Given the description of an element on the screen output the (x, y) to click on. 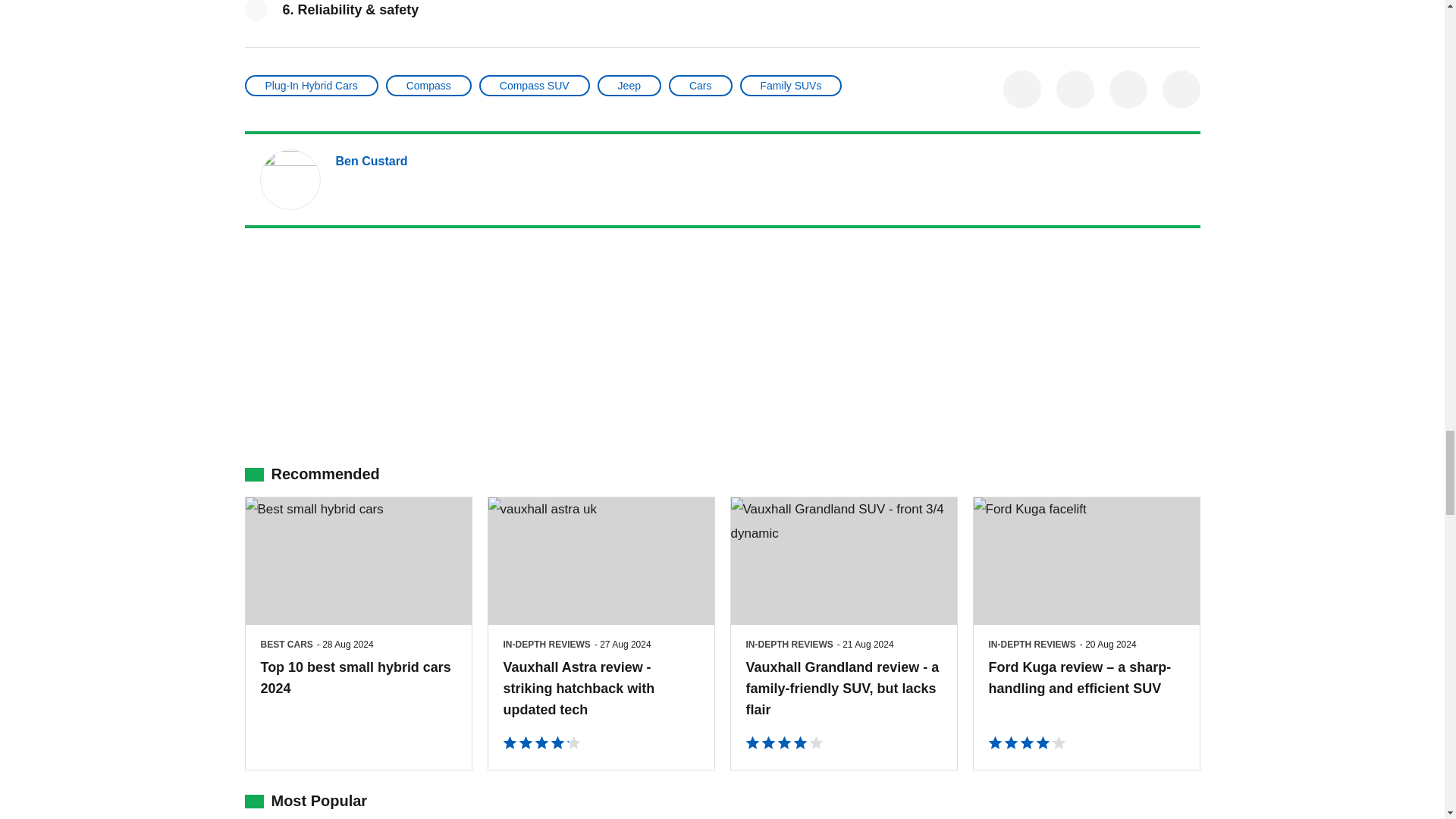
4 Stars (783, 744)
4.1 Stars (541, 744)
4 Stars (1026, 744)
